Given the description of an element on the screen output the (x, y) to click on. 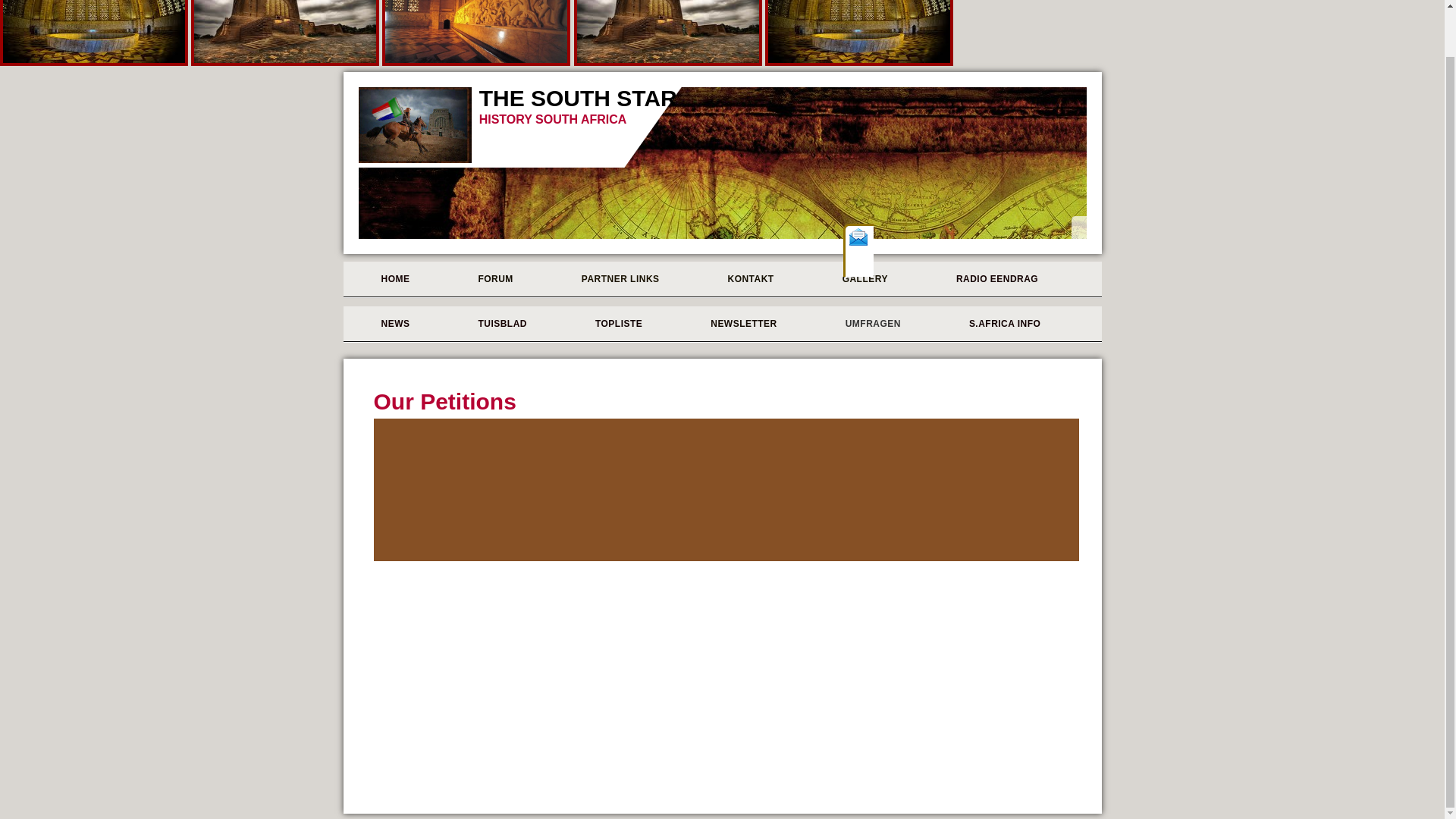
GALLERY (859, 279)
HOME (388, 279)
RADIO EENDRAG (991, 279)
PARTNER LINKS (614, 279)
FORUM (488, 279)
KONTAKT (745, 279)
